Given the description of an element on the screen output the (x, y) to click on. 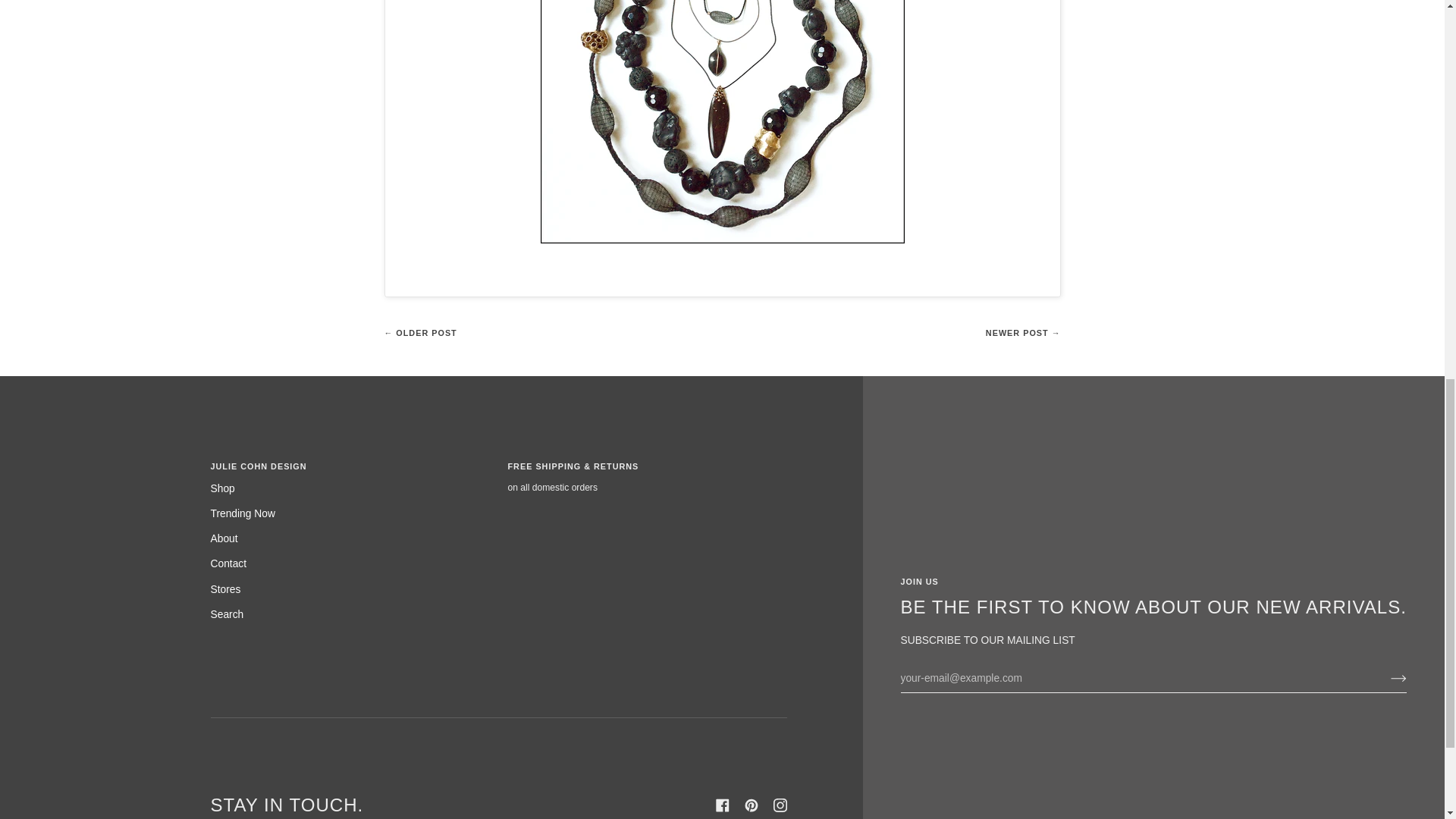
Facebook (722, 805)
Instagram (780, 805)
Pinterest (751, 805)
